Given the description of an element on the screen output the (x, y) to click on. 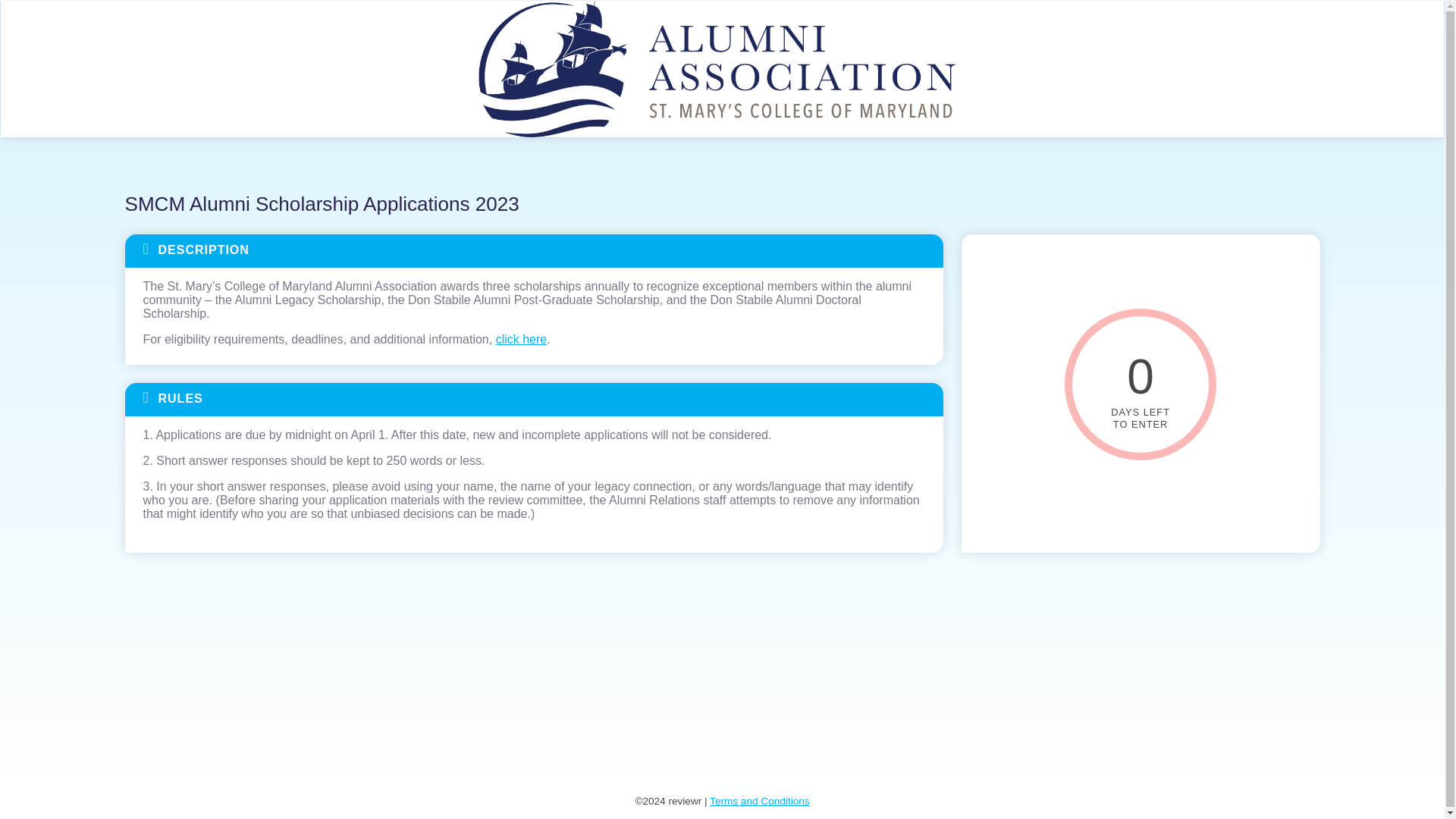
click here (521, 338)
Terms and Conditions (759, 800)
